Given the description of an element on the screen output the (x, y) to click on. 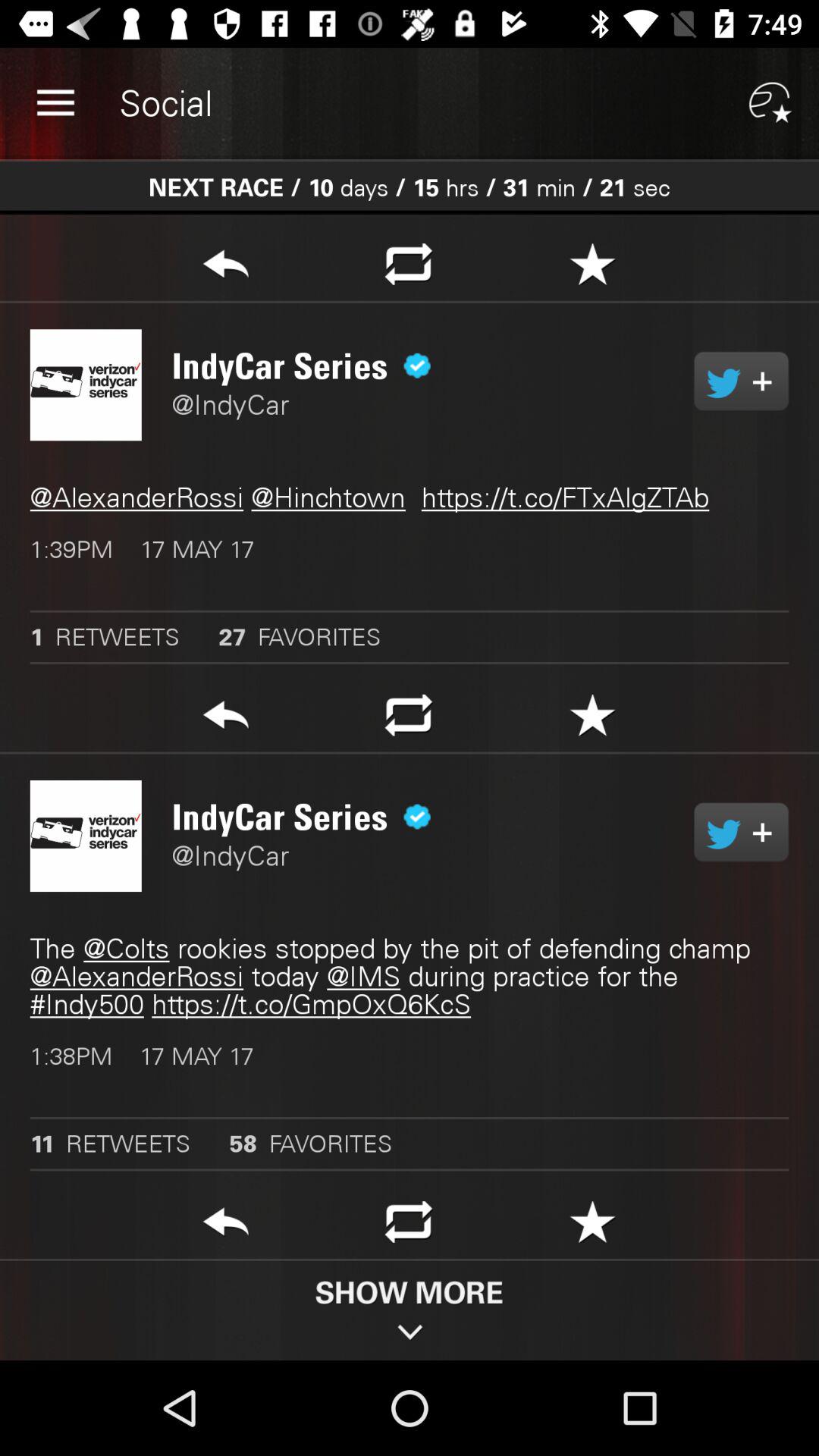
retweet (408, 1226)
